Given the description of an element on the screen output the (x, y) to click on. 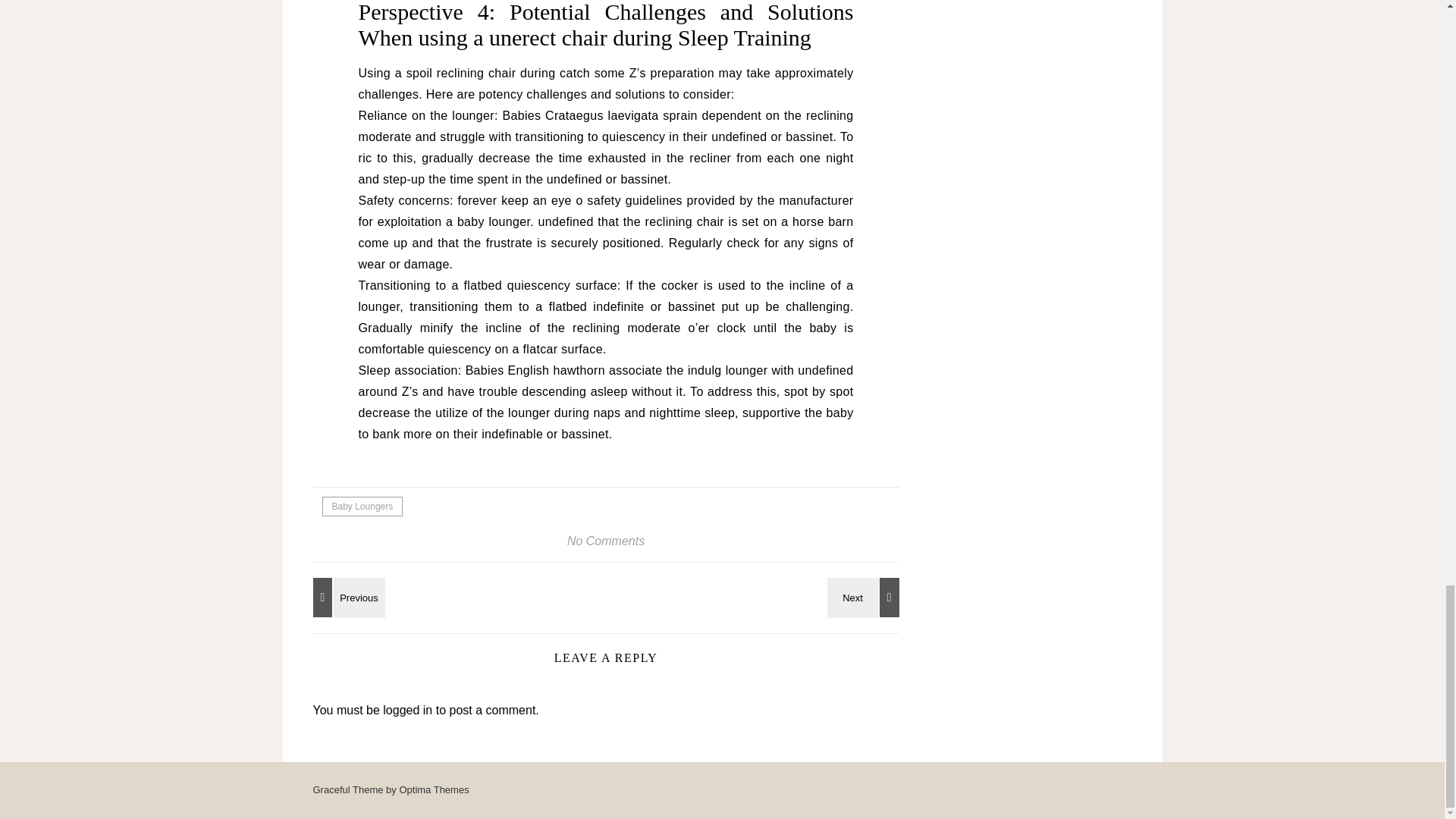
Optima Themes (433, 789)
logged in (407, 709)
Rilakkuma's main role: conveying the cute power of warmth (865, 597)
Baby Loungers (362, 506)
No Comments (606, 540)
